Given the description of an element on the screen output the (x, y) to click on. 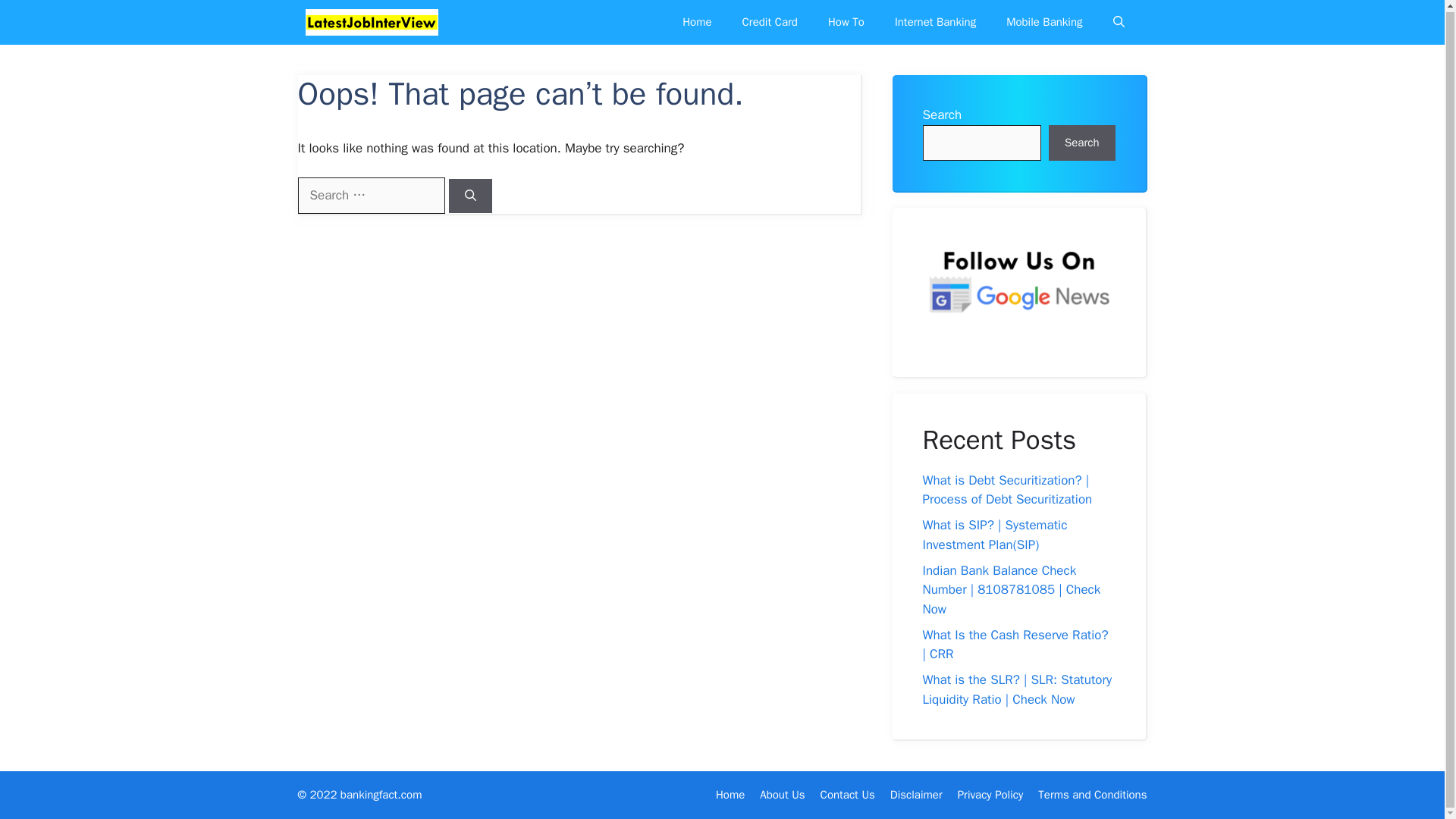
Credit Card (769, 22)
Home (730, 794)
Terms and Conditions (1092, 794)
Search (1081, 143)
Home (696, 22)
About Us (782, 794)
Contact Us (848, 794)
Mobile Banking (1044, 22)
Internet Banking (935, 22)
How To (845, 22)
